Given the description of an element on the screen output the (x, y) to click on. 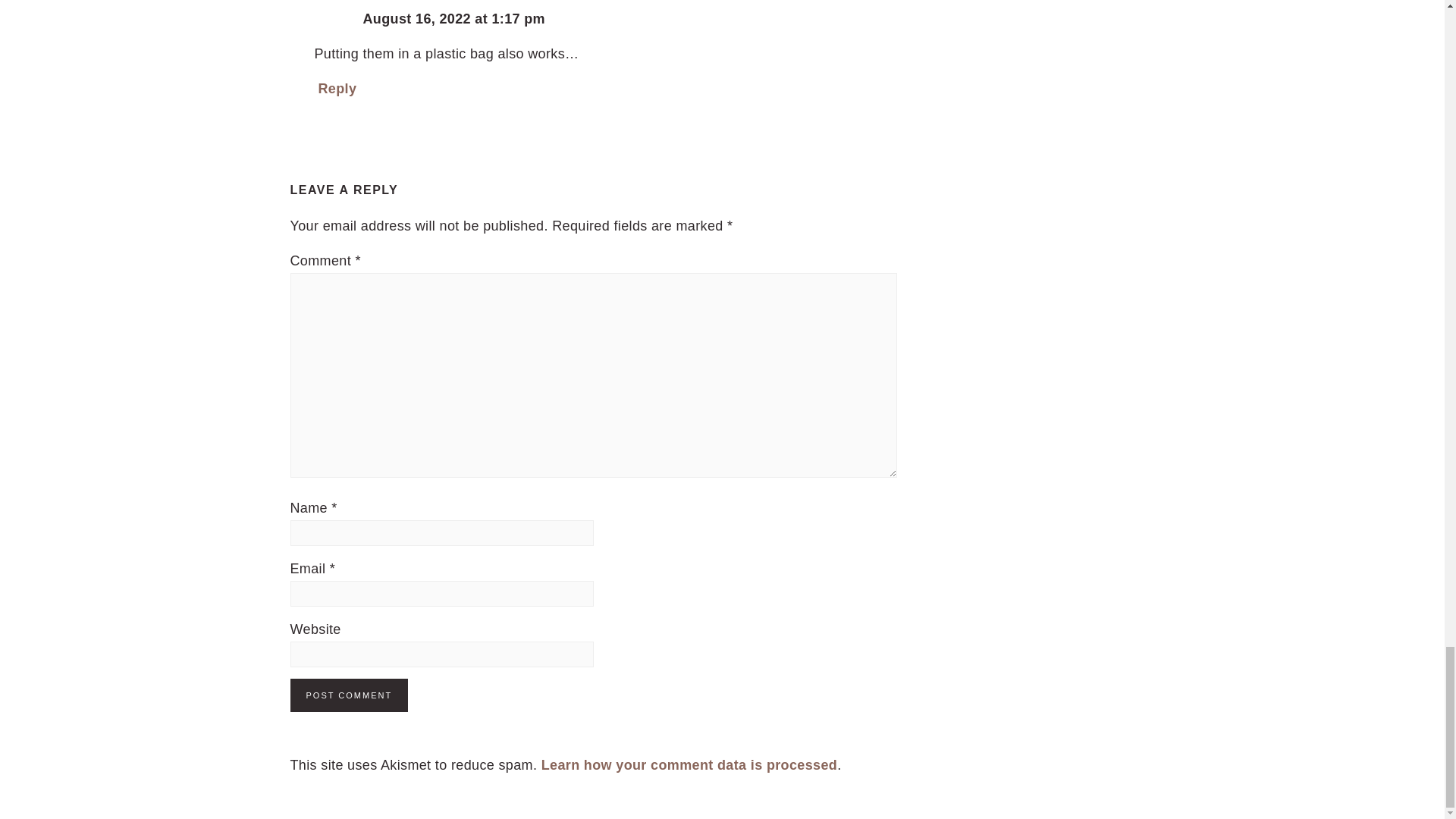
Post Comment (348, 694)
